Given the description of an element on the screen output the (x, y) to click on. 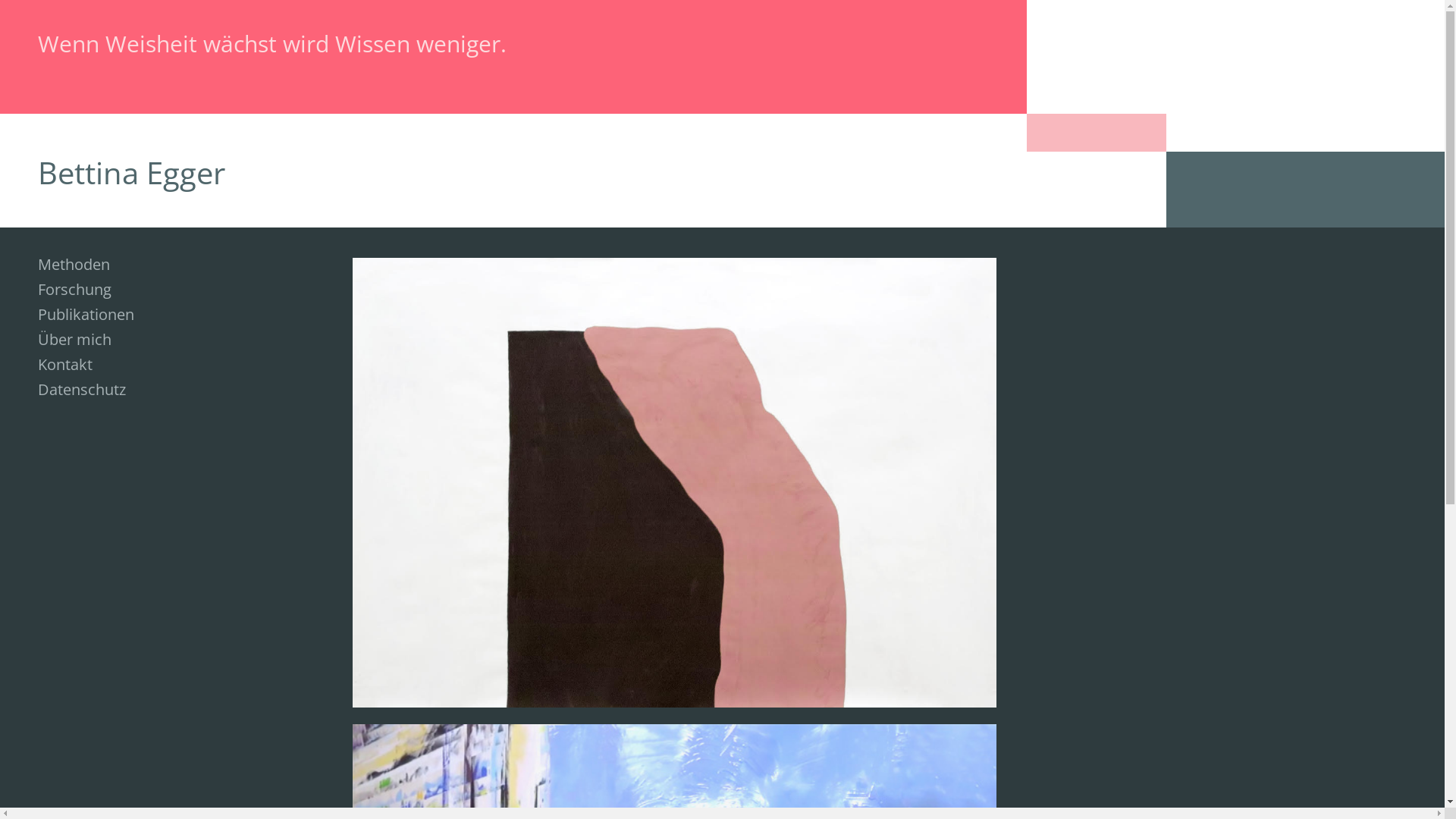
Bettina Egger Element type: text (131, 172)
Kontakt Element type: text (64, 364)
Datenschutz Element type: text (81, 389)
Methoden Element type: text (73, 264)
Forschung Element type: text (74, 289)
Publikationen Element type: text (85, 314)
